Given the description of an element on the screen output the (x, y) to click on. 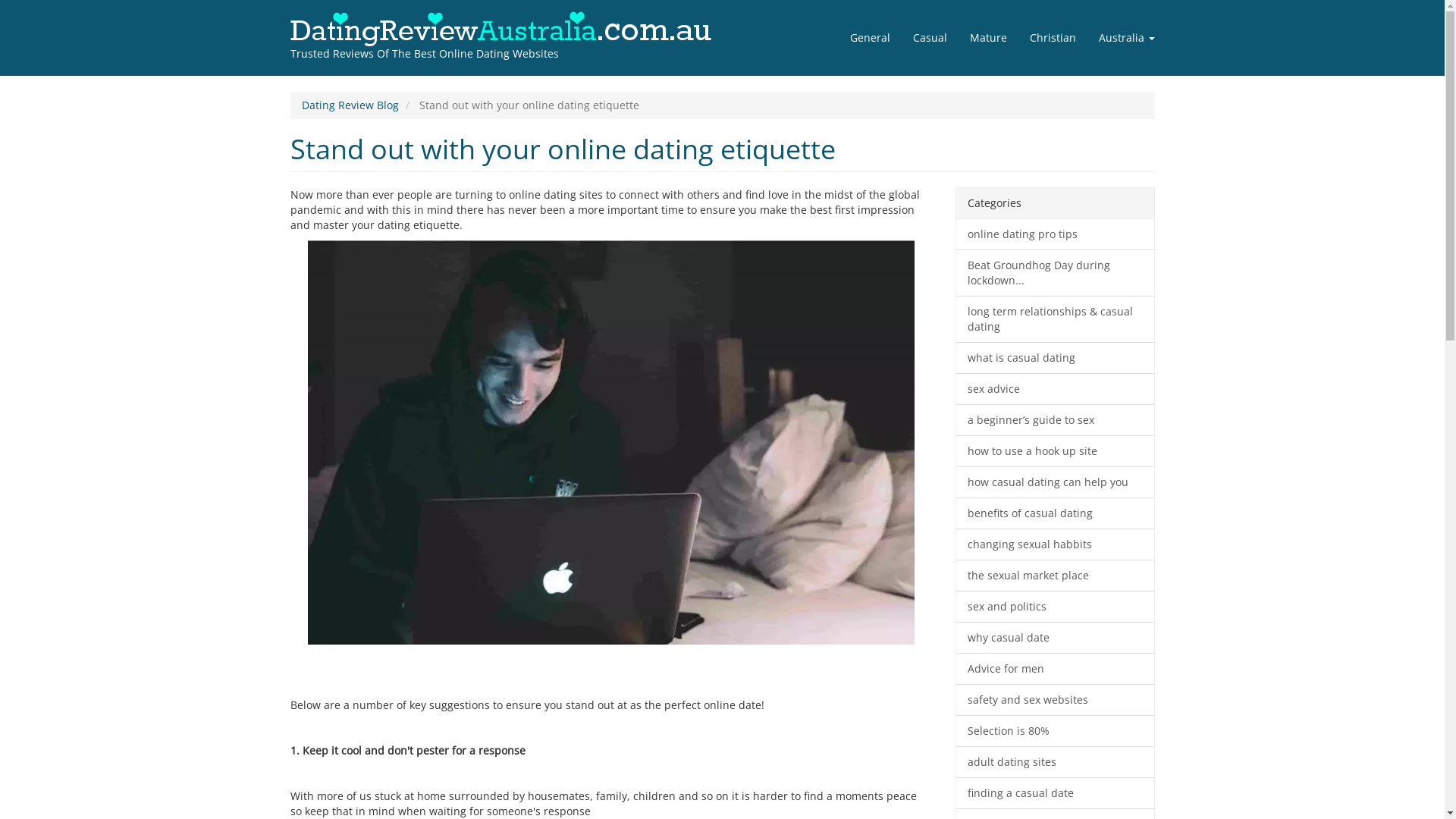
Advice for men Element type: text (1055, 668)
online dating pro tips Element type: text (1055, 234)
why casual date Element type: text (1055, 637)
Casual Element type: text (928, 37)
Home Element type: hover (511, 28)
long term relationships & casual dating Element type: text (1055, 318)
sex and politics Element type: text (1055, 606)
how casual dating can help you Element type: text (1055, 482)
safety and sex websites Element type: text (1055, 699)
benefits of casual dating Element type: text (1055, 513)
finding a casual date Element type: text (1055, 793)
sex advice Element type: text (1055, 388)
Beat Groundhog Day during lockdown... Element type: text (1055, 272)
Dating Review Blog Element type: text (349, 104)
Australia Element type: text (1126, 37)
changing sexual habbits Element type: text (1055, 544)
adult dating sites Element type: text (1055, 762)
Skip to main content Element type: text (0, 0)
Selection is 80% Element type: text (1055, 730)
Christian Element type: text (1051, 37)
what is casual dating Element type: text (1055, 357)
Dating Review Australia Element type: text (290, 83)
Mature Element type: text (988, 37)
how to use a hook up site Element type: text (1055, 451)
the sexual market place Element type: text (1055, 575)
General Element type: text (869, 37)
